Given the description of an element on the screen output the (x, y) to click on. 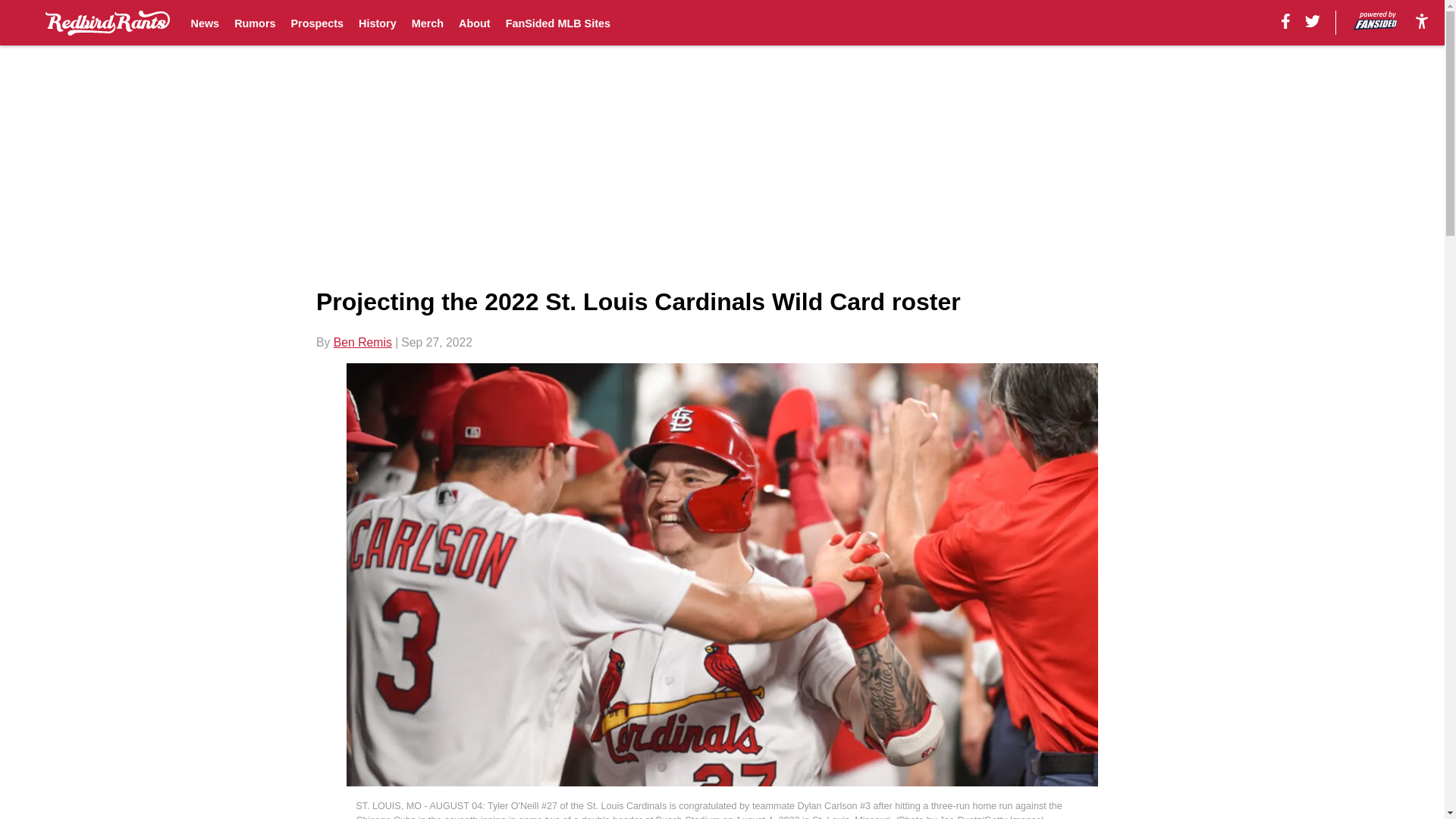
About (474, 23)
Prospects (317, 23)
Rumors (254, 23)
News (204, 23)
FanSided MLB Sites (557, 23)
History (377, 23)
Ben Remis (362, 341)
Merch (428, 23)
